Given the description of an element on the screen output the (x, y) to click on. 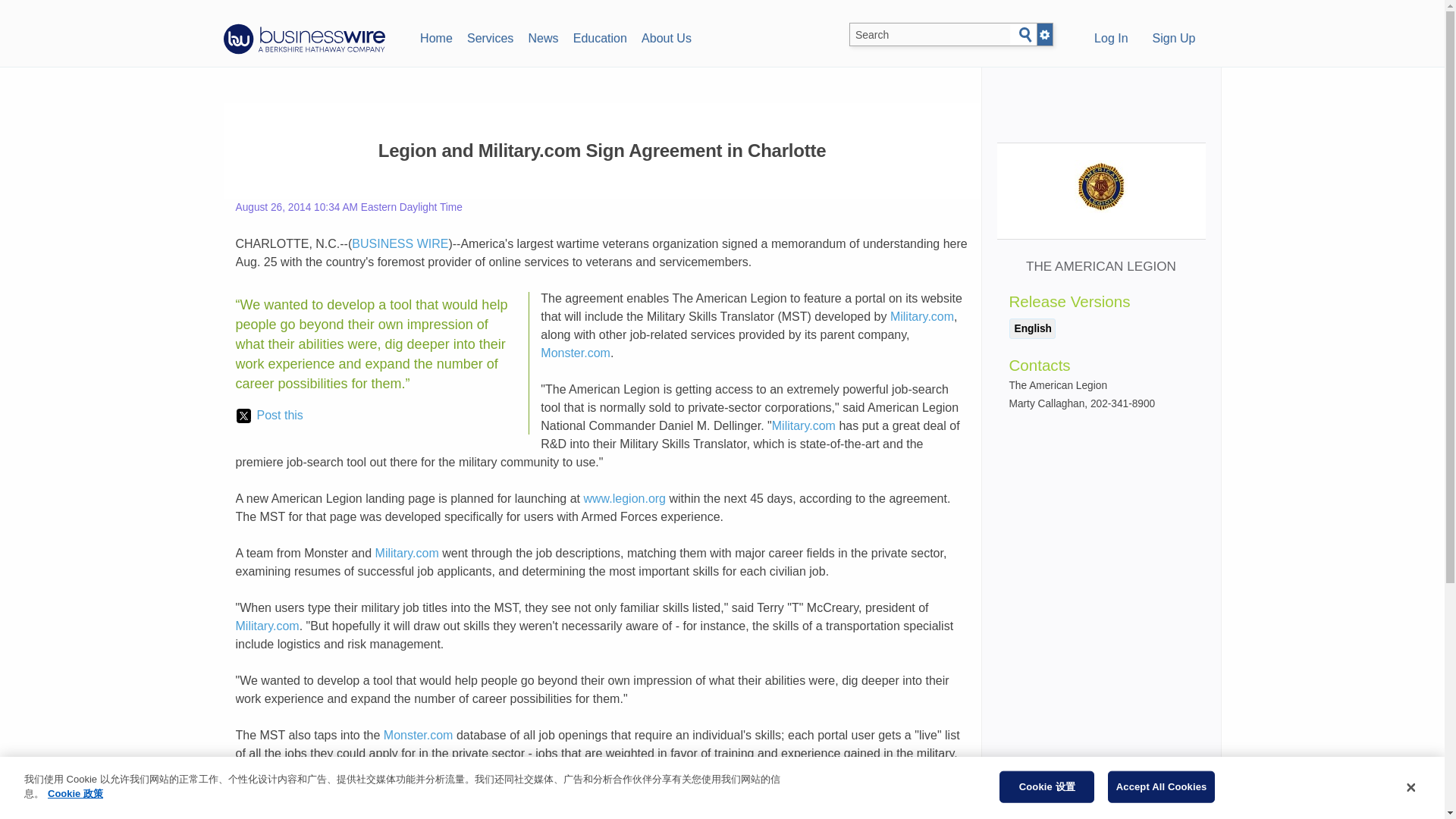
Post this (269, 415)
BUSINESS WIRE (400, 243)
Monster.com (575, 352)
www.legion.org (624, 498)
Military.com (407, 553)
About Us (665, 36)
Monster.com (418, 735)
Home (436, 36)
Military.com (266, 625)
Services (490, 36)
